Given the description of an element on the screen output the (x, y) to click on. 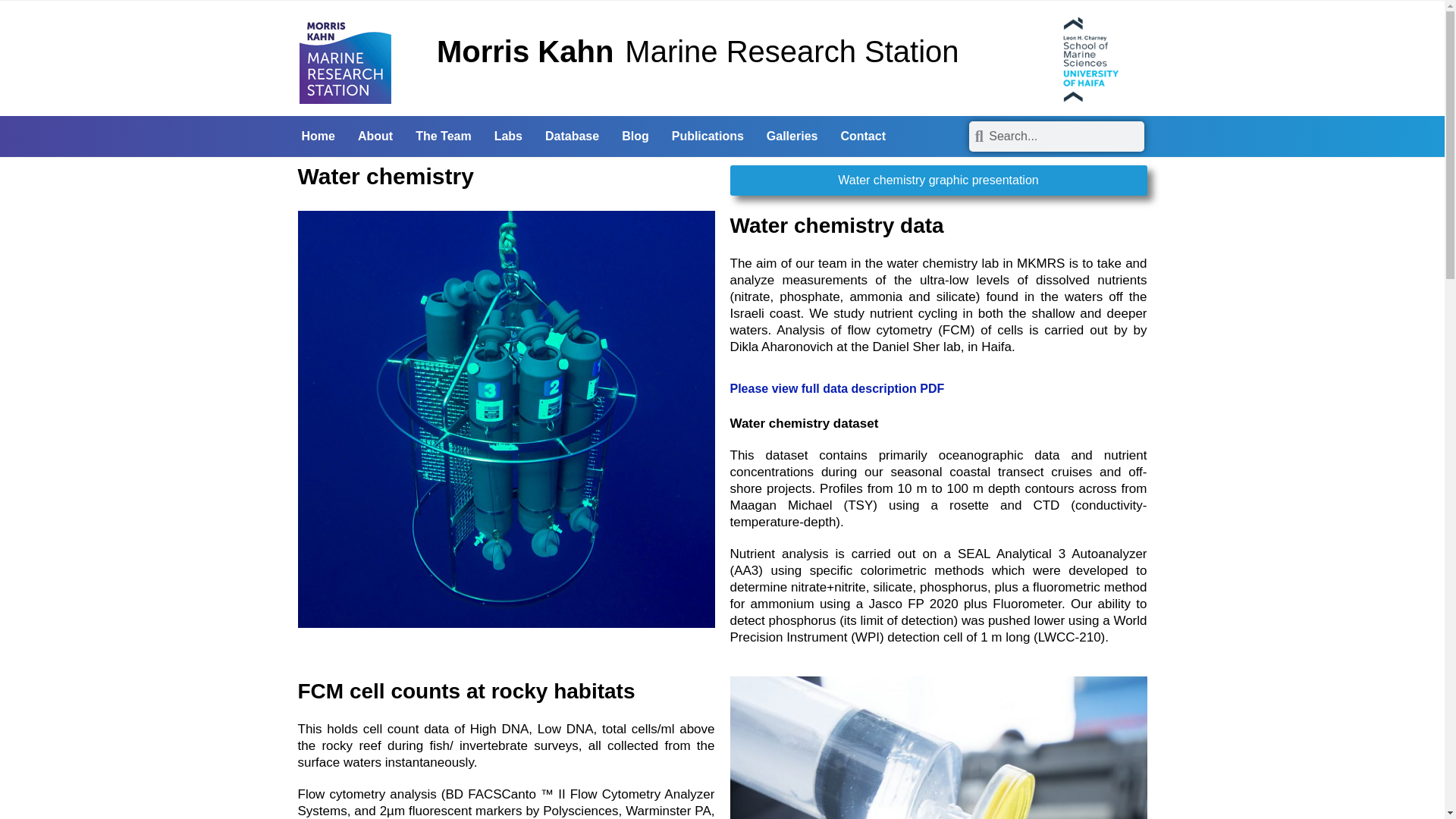
Publications (708, 136)
Galleries (792, 136)
Blog (635, 136)
Labs (508, 136)
Database (572, 136)
Home (317, 136)
Contact (862, 136)
About (375, 136)
The Team (443, 136)
